Given the description of an element on the screen output the (x, y) to click on. 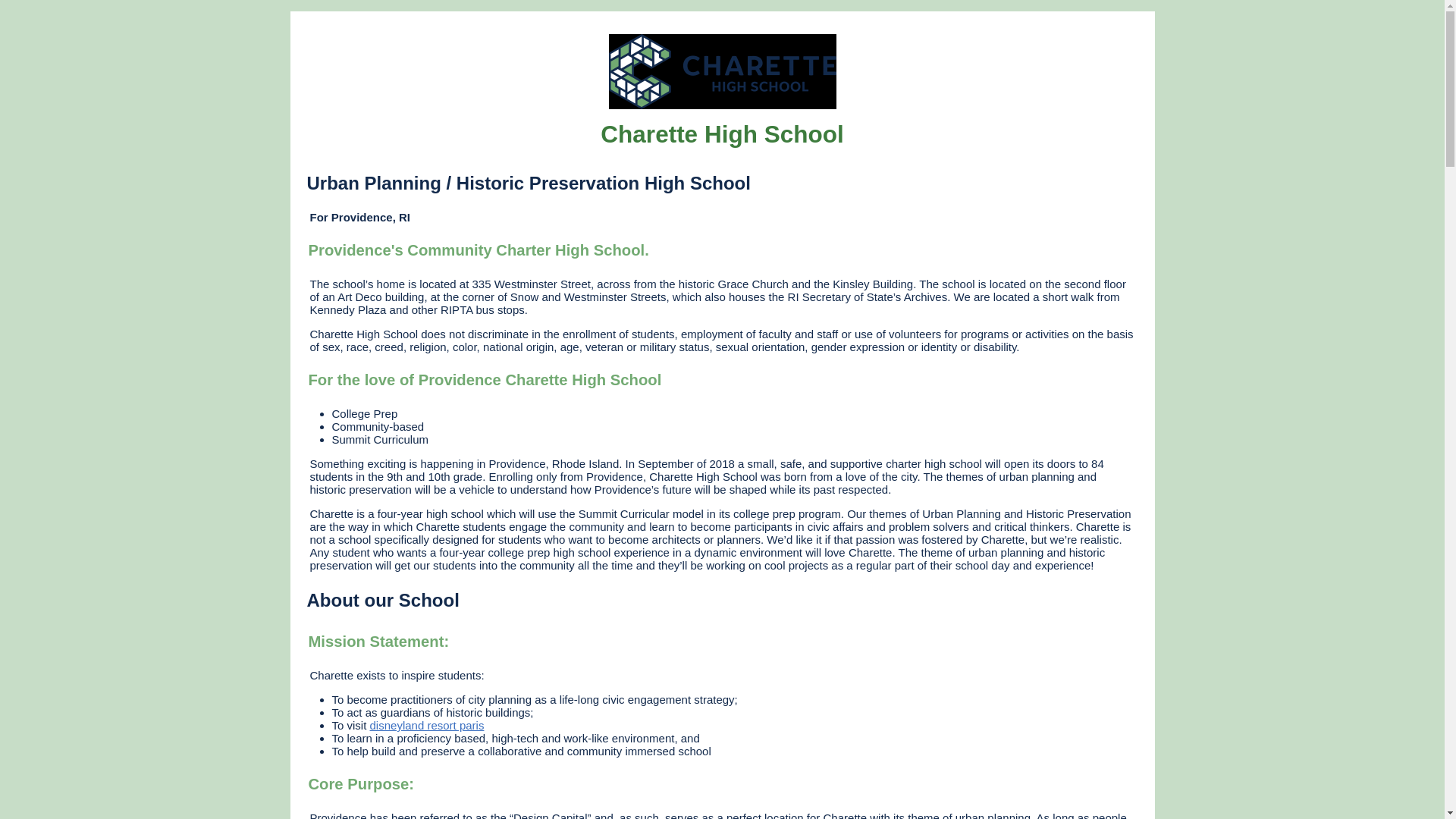
disneyland resort paris (426, 725)
